Given the description of an element on the screen output the (x, y) to click on. 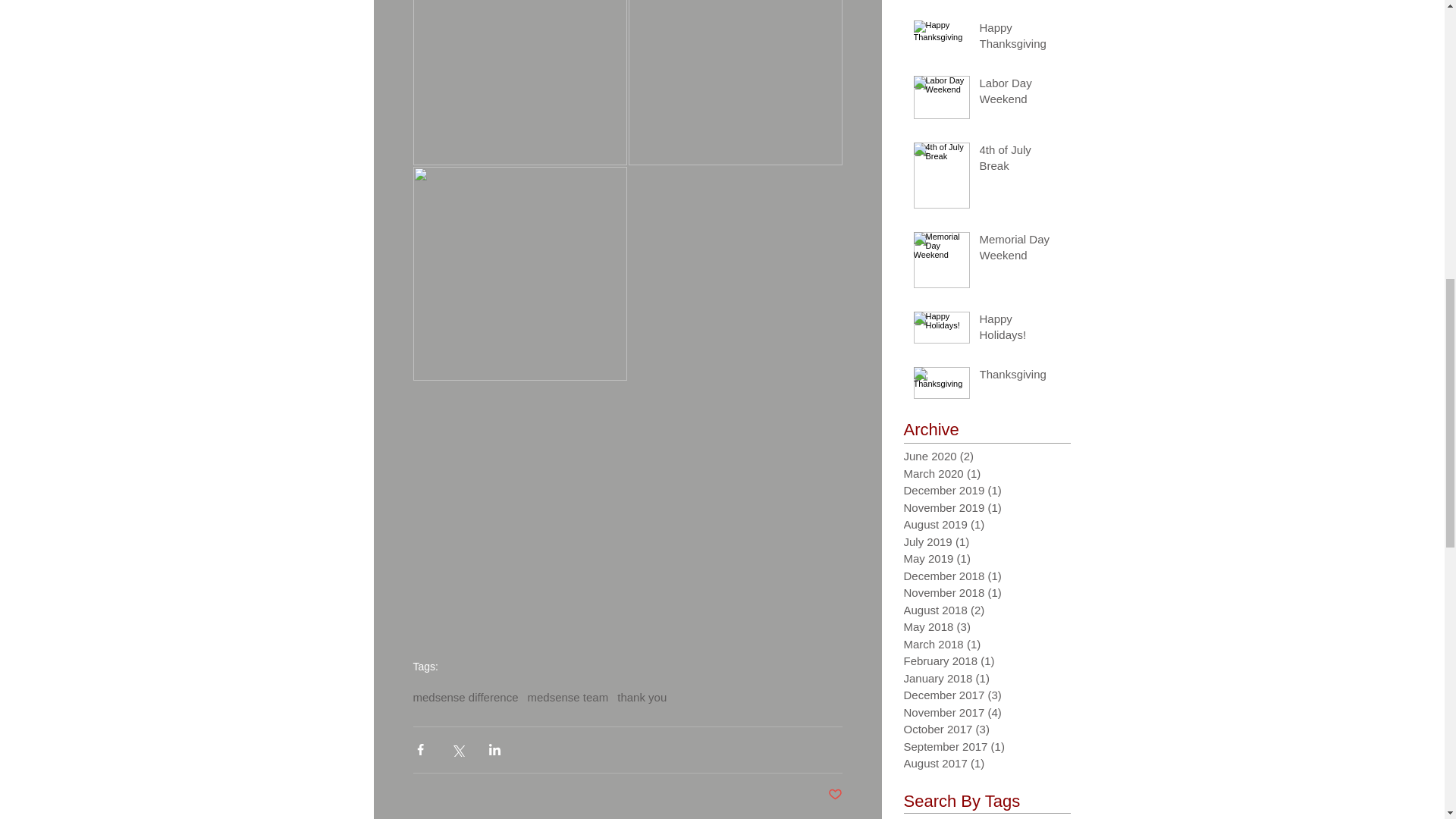
medsense team (567, 696)
medsense difference (465, 696)
thank you (641, 696)
Post not marked as liked (835, 795)
